Given the description of an element on the screen output the (x, y) to click on. 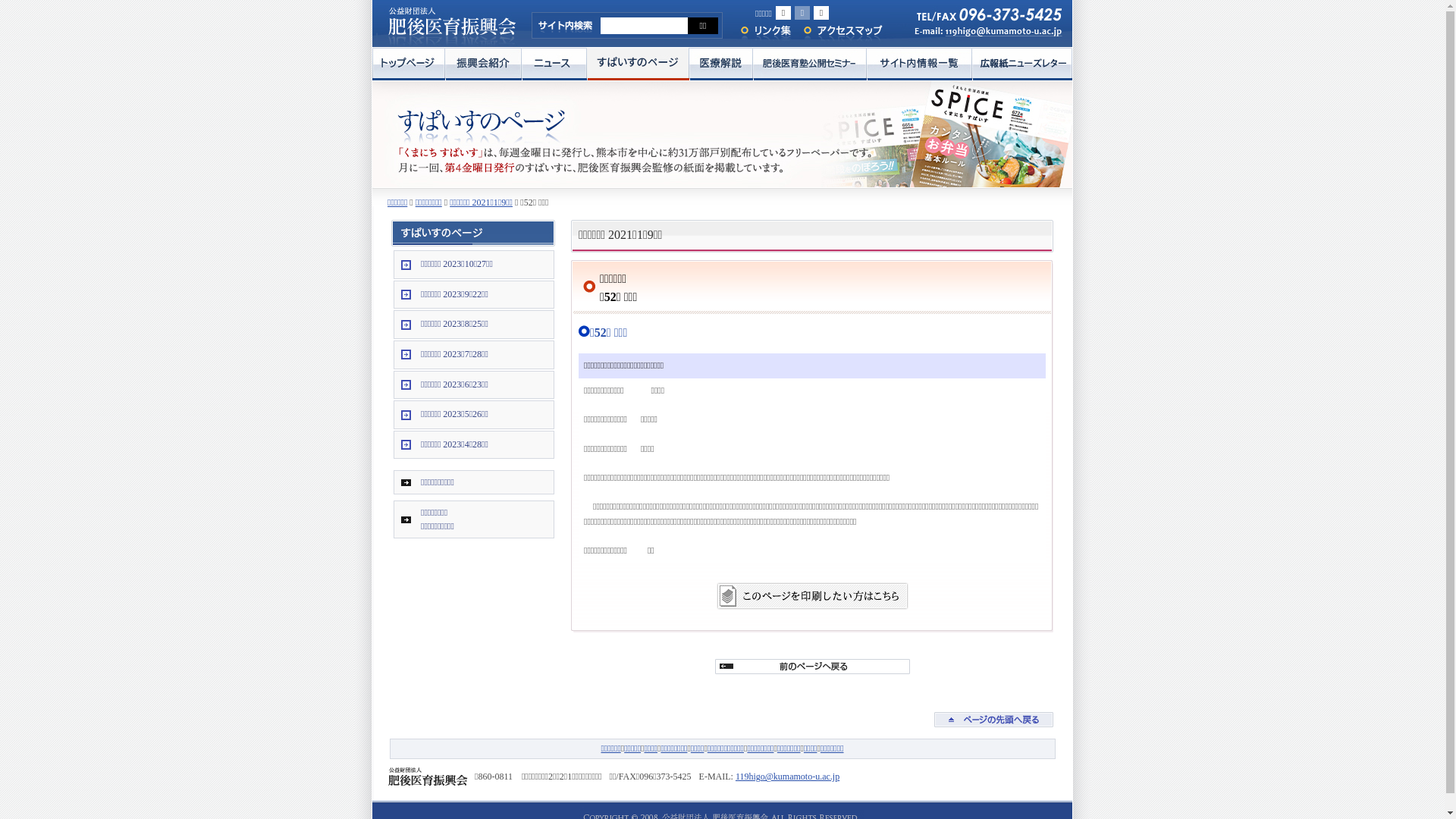
E-mail: 119higo@kumamoto-u.ac.jp Element type: text (980, 35)
119higo@kumamoto-u.ac.jp Element type: text (787, 776)
